Given the description of an element on the screen output the (x, y) to click on. 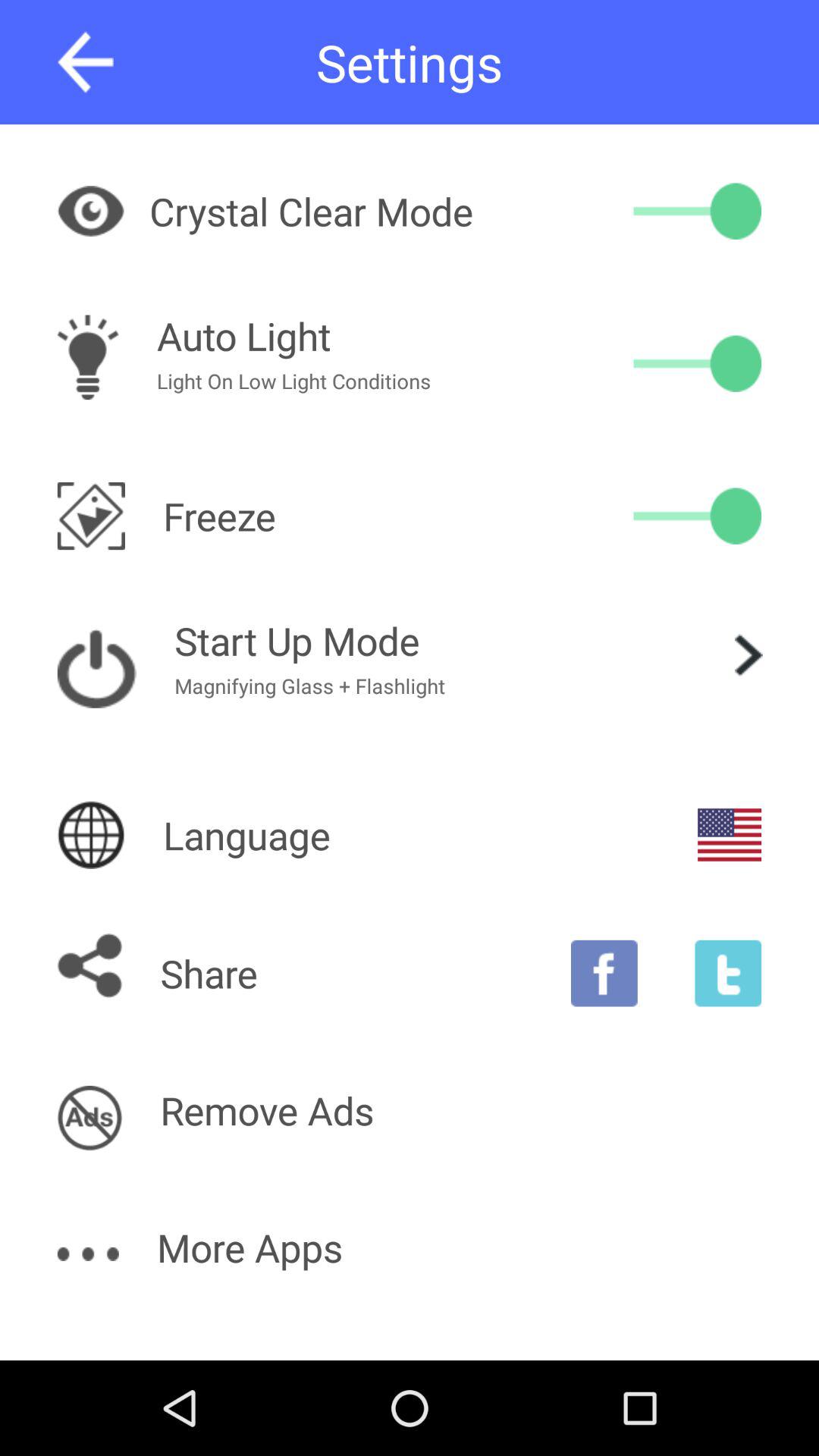
toggle autoplay light option (697, 363)
